Given the description of an element on the screen output the (x, y) to click on. 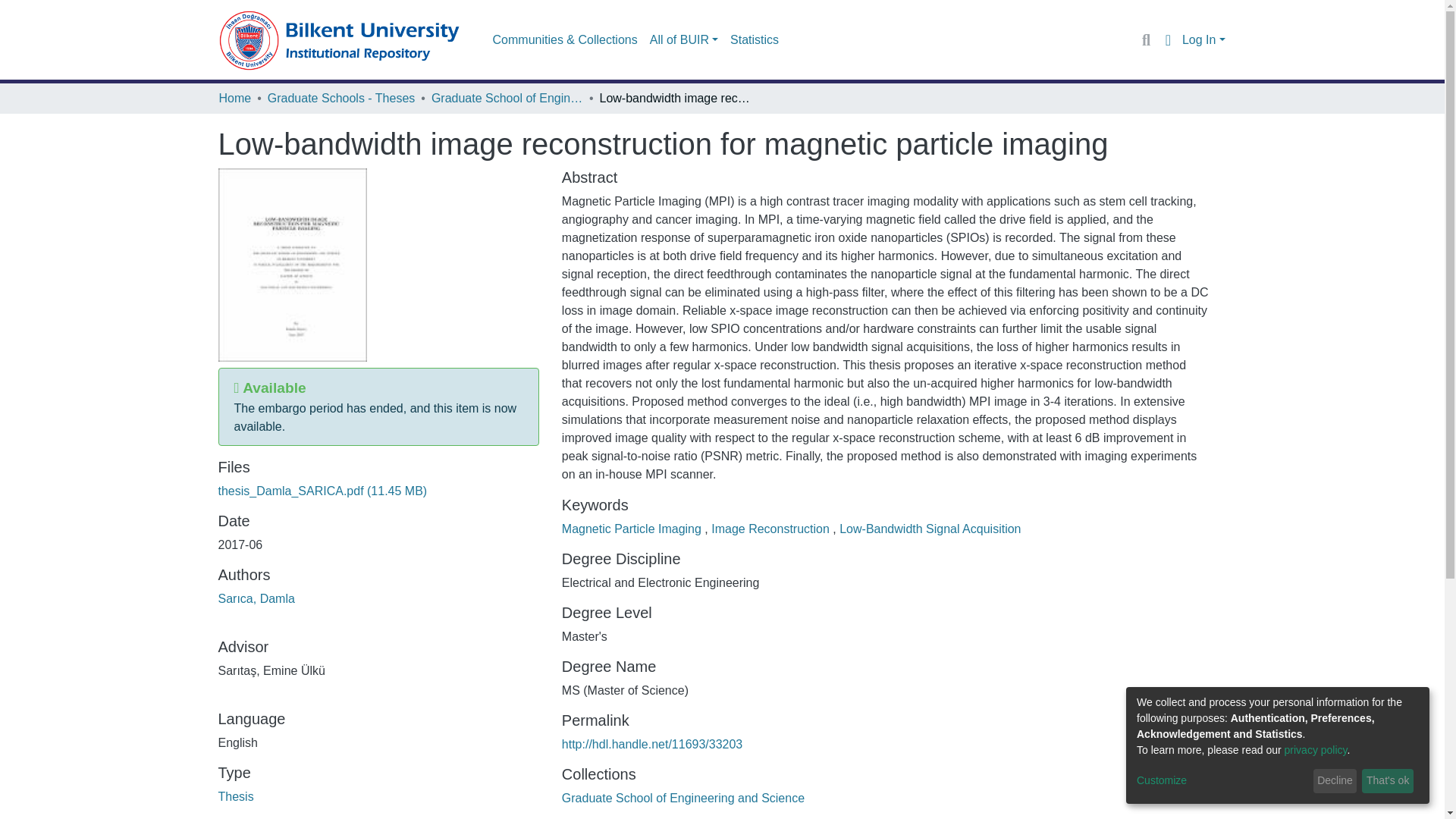
Low-Bandwidth Signal Acquisition (930, 528)
Graduate School of Engineering and Science (506, 98)
All of BUIR (683, 40)
Graduate Schools - Theses (340, 98)
Statistics (753, 40)
Search (1146, 40)
Language switch (1167, 40)
Magnetic Particle Imaging (633, 528)
Statistics (753, 40)
Image Reconstruction (771, 528)
